Given the description of an element on the screen output the (x, y) to click on. 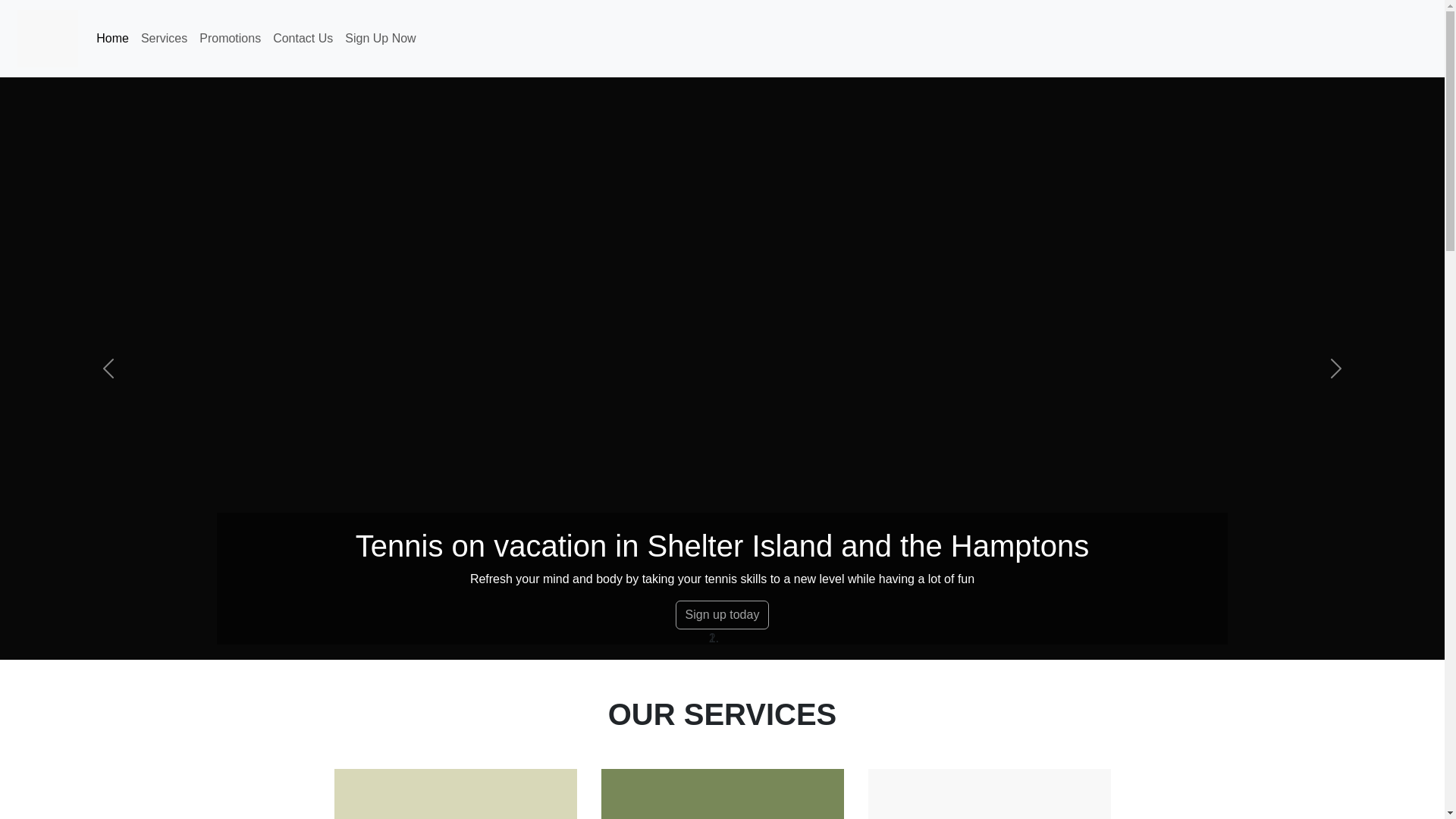
Services (164, 38)
Contact Us (302, 38)
Sign Up Now (380, 38)
Sign up today (722, 614)
Sign up today (722, 613)
Promotions (229, 38)
Home (112, 38)
